Given the description of an element on the screen output the (x, y) to click on. 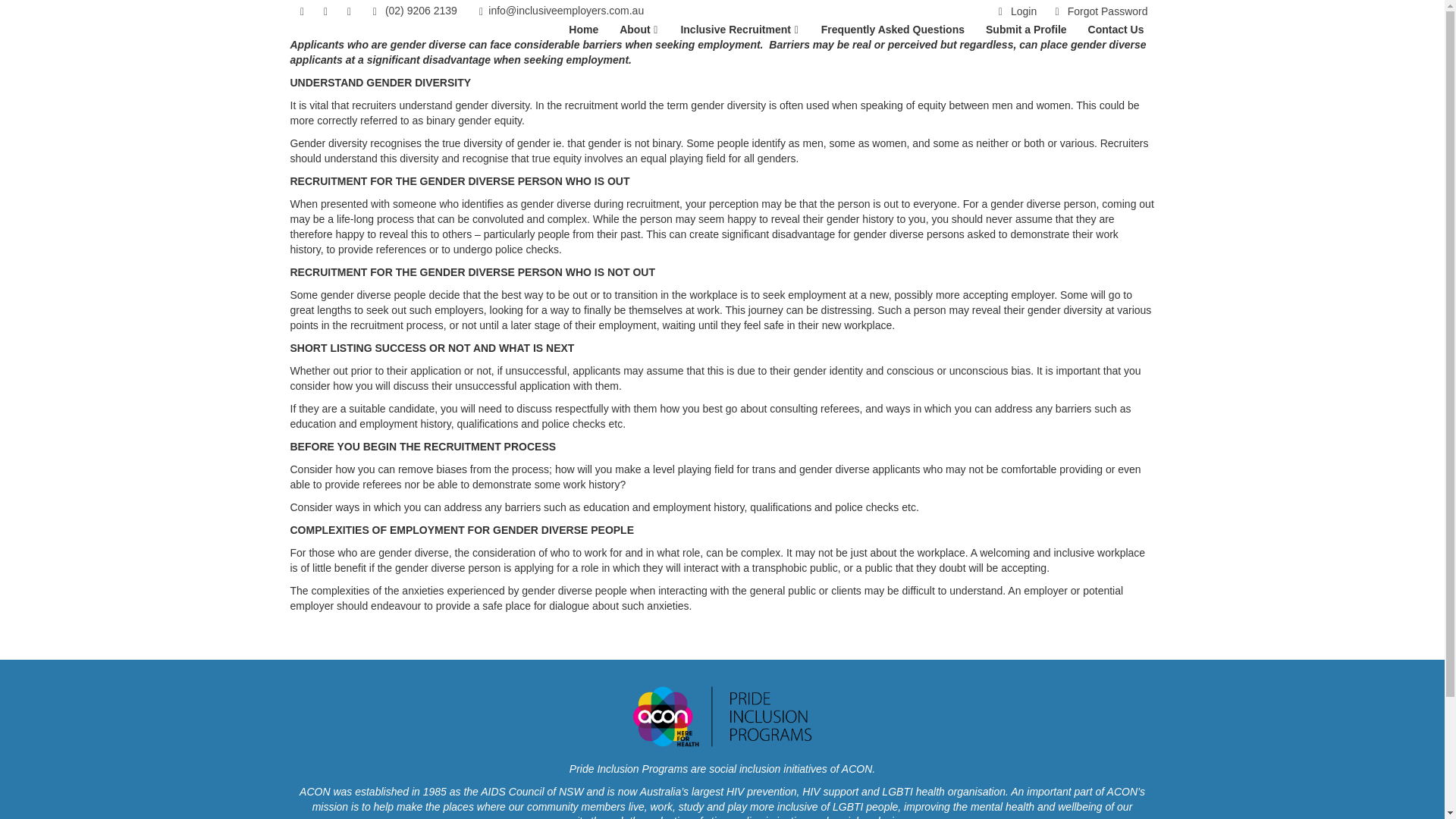
Frequently Asked Questions (892, 29)
Home (583, 29)
Submit a Profile (1026, 29)
Forgot Password (1098, 11)
Inclusive Recruitment (739, 29)
About (639, 29)
Contact Us (1115, 29)
Login (1014, 11)
